Given the description of an element on the screen output the (x, y) to click on. 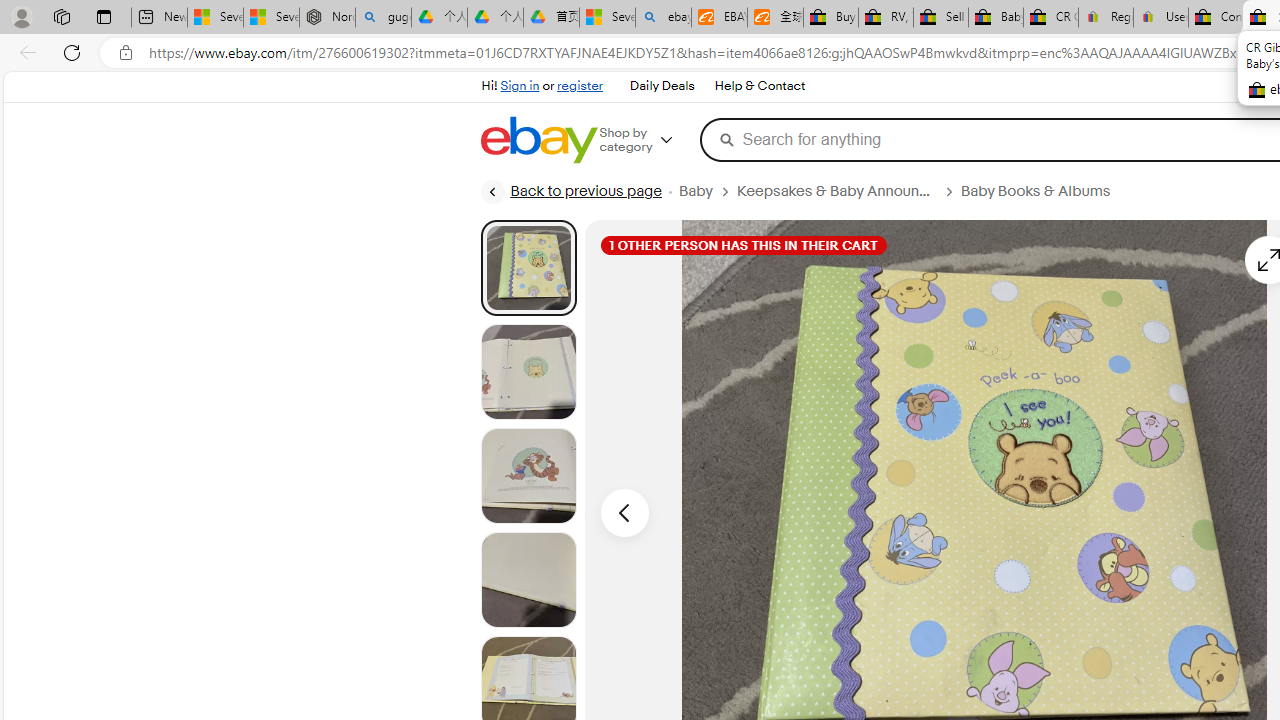
Baby Books & Albums (1035, 191)
Daily Deals (662, 86)
Back to previous page (570, 191)
Picture 2 of 22 (528, 371)
Baby Books & Albums (1043, 191)
Picture 1 of 22 (528, 268)
ebay - Search (663, 17)
Tab actions menu (104, 16)
Daily Deals (661, 85)
eBay Home (538, 139)
Sign in (520, 85)
guge yunpan - Search (382, 17)
